Given the description of an element on the screen output the (x, y) to click on. 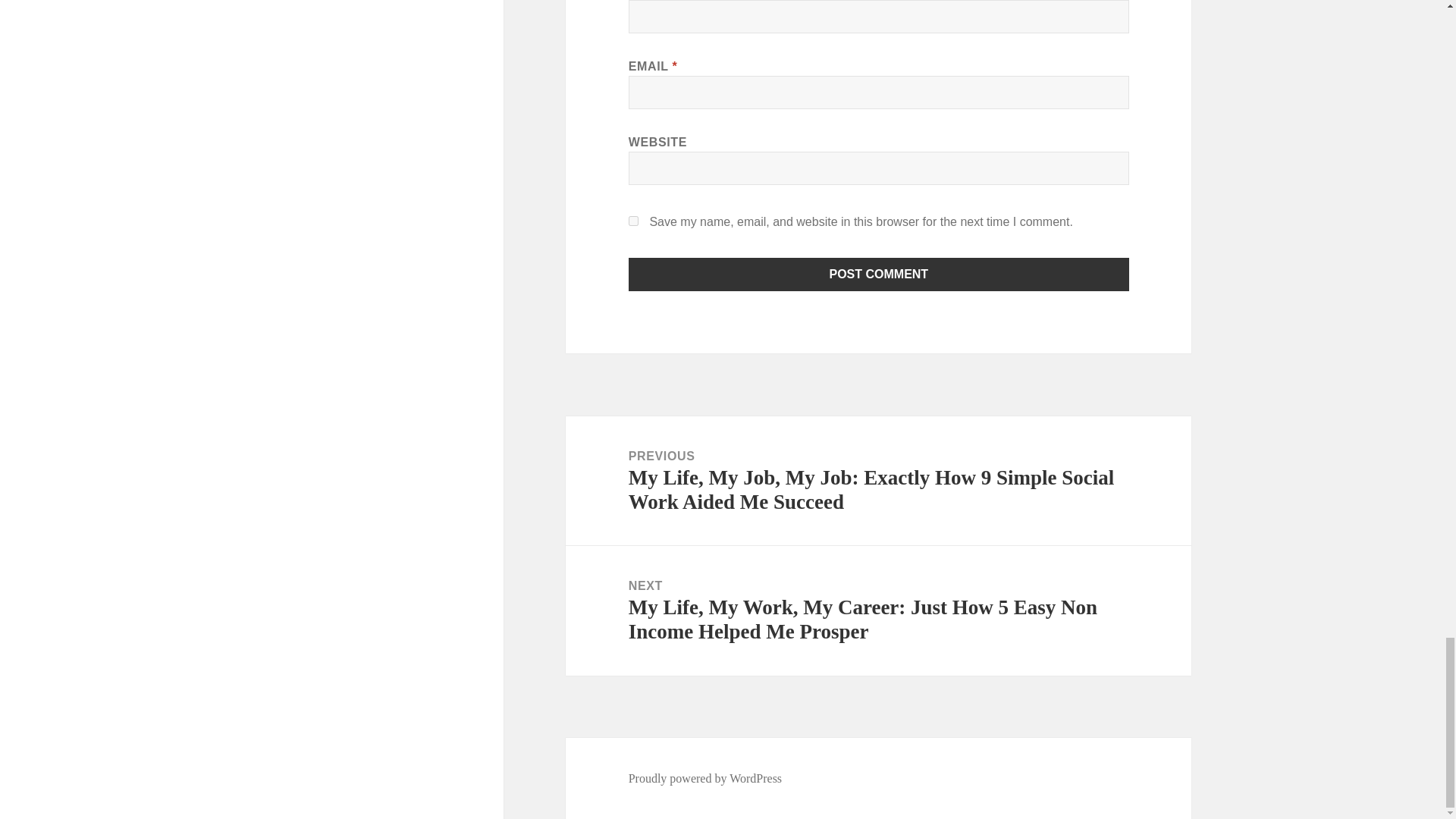
yes (633, 221)
Post Comment (878, 274)
Proudly powered by WordPress (704, 778)
Post Comment (878, 274)
